Given the description of an element on the screen output the (x, y) to click on. 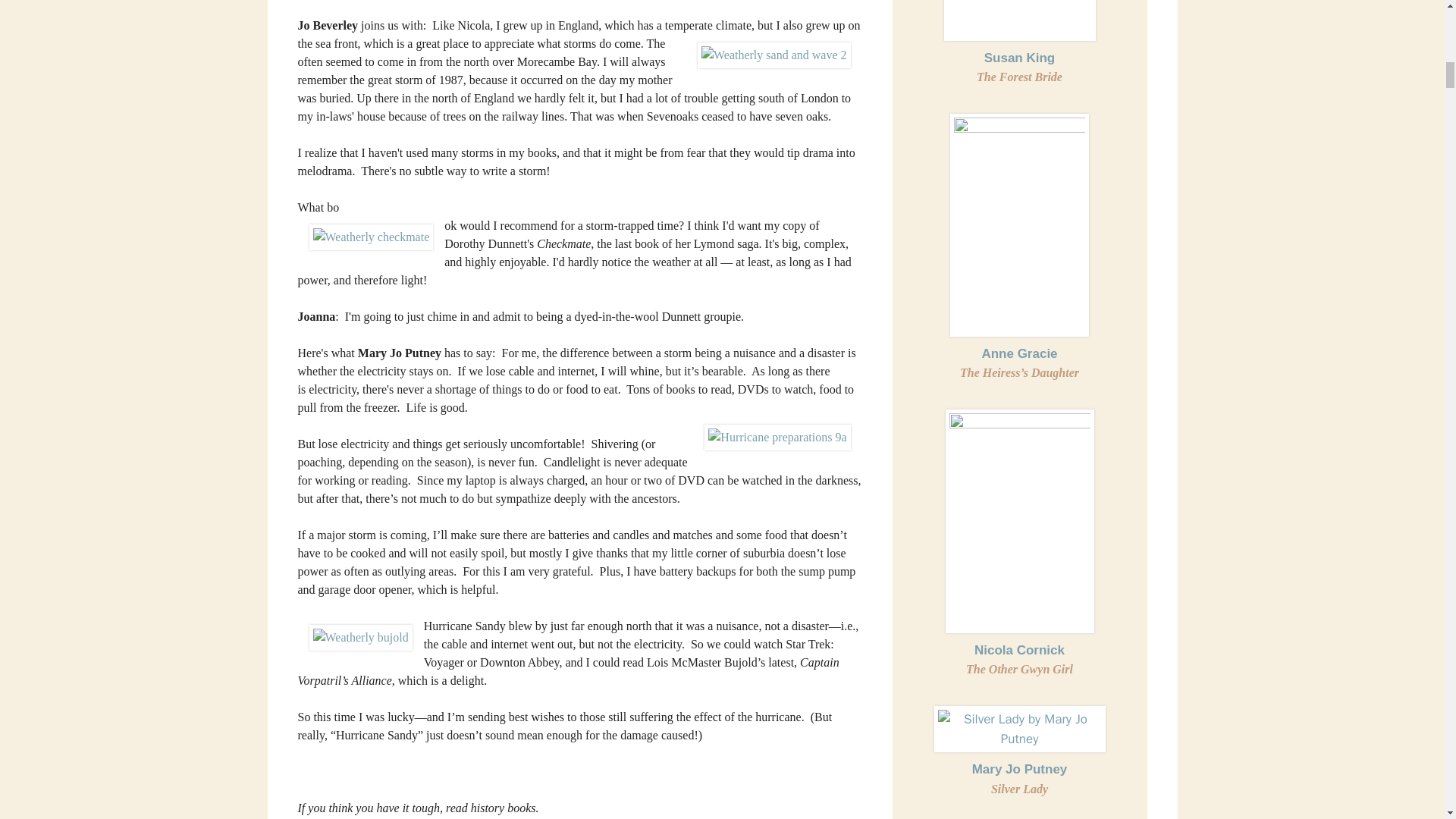
Weatherly checkmate (370, 237)
Hurricane preparations 9a (777, 437)
Weatherly sand and wave 2 (773, 54)
Weatherly bujold (360, 637)
